Given the description of an element on the screen output the (x, y) to click on. 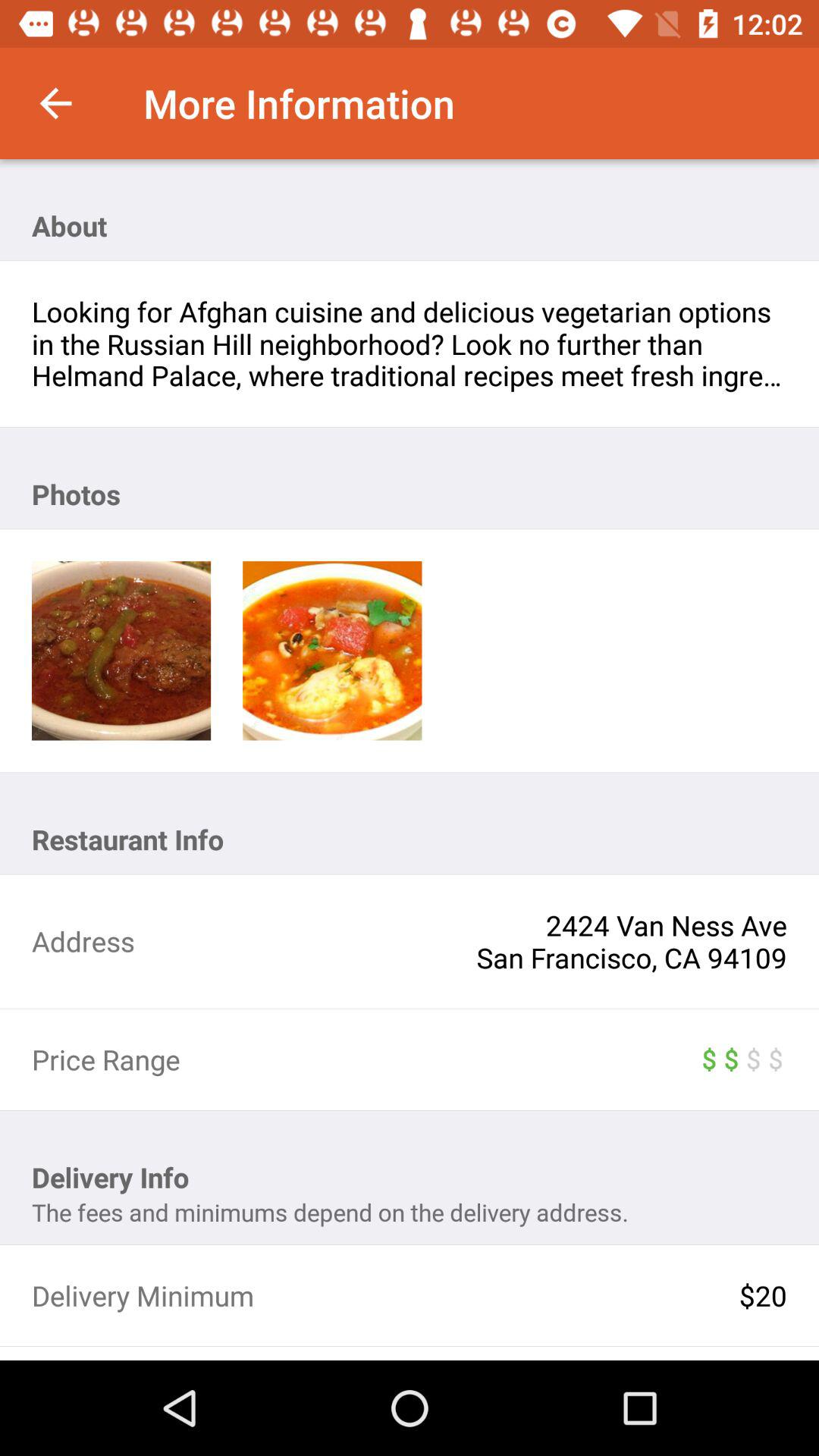
select the item above restaurant info item (121, 650)
